Given the description of an element on the screen output the (x, y) to click on. 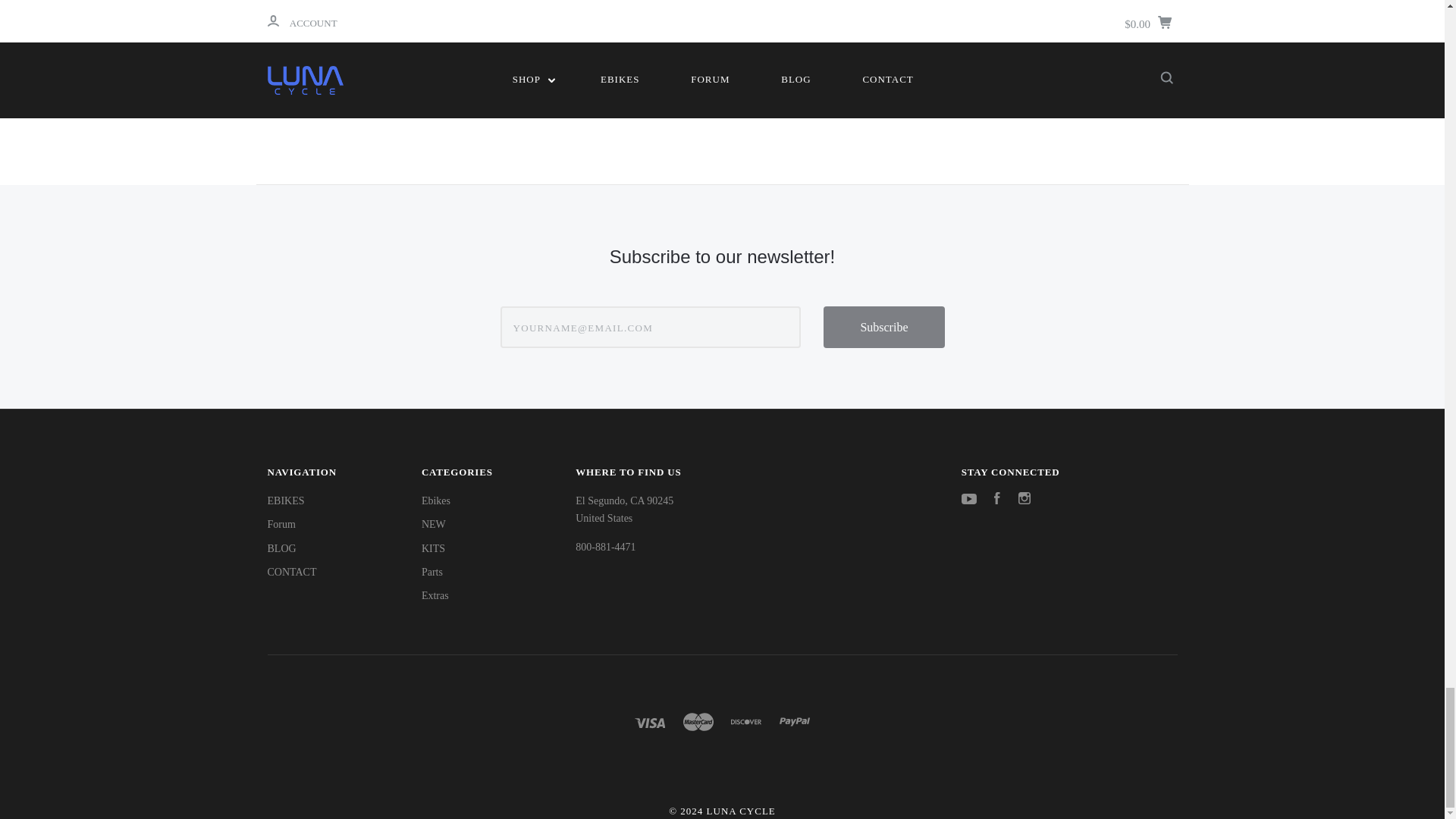
Instagram (1023, 500)
Subscribe (883, 327)
YouTube (968, 500)
